Given the description of an element on the screen output the (x, y) to click on. 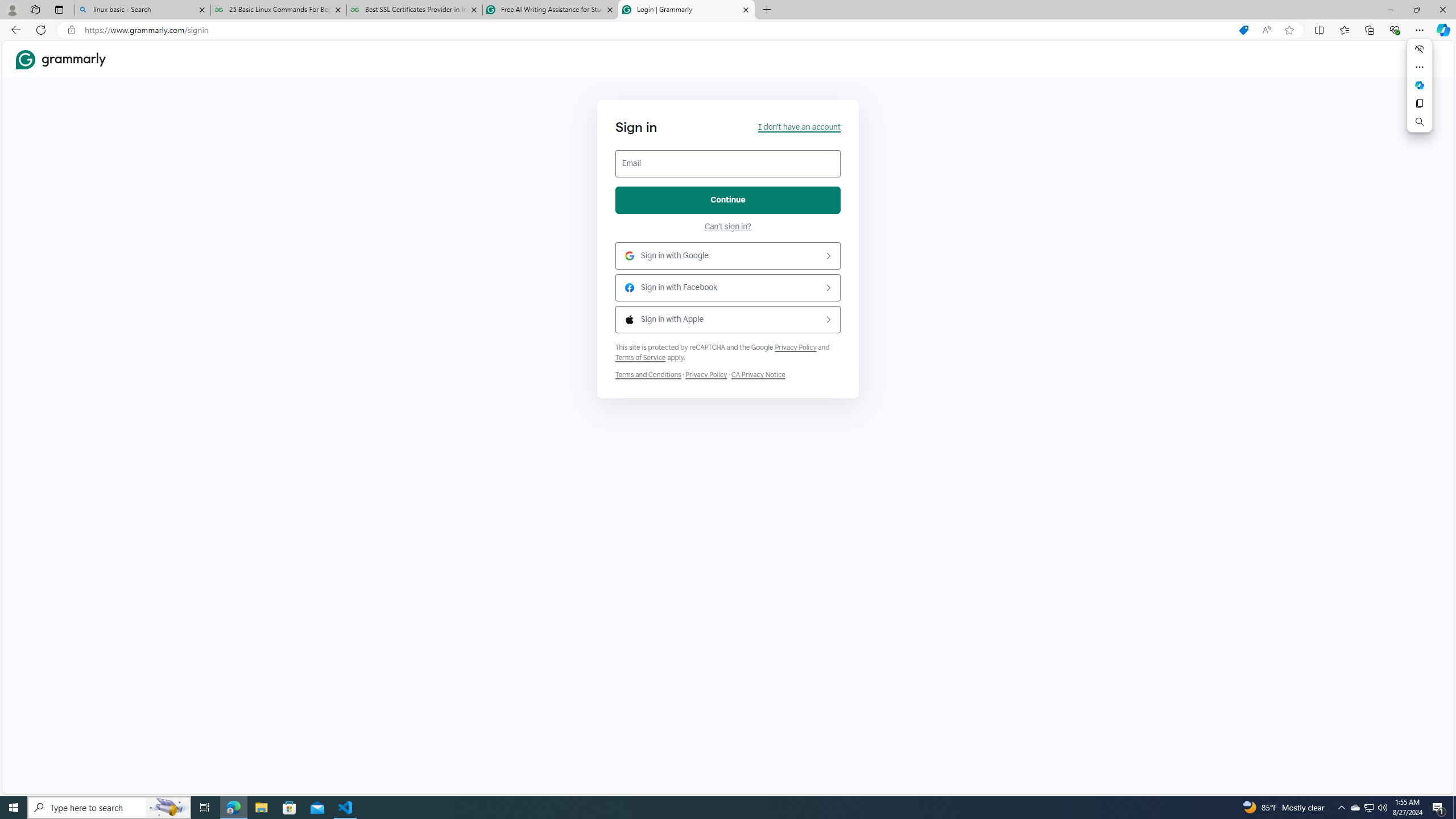
Hide menu (1419, 49)
Sign in with Apple (727, 319)
25 Basic Linux Commands For Beginners - GeeksforGeeks (277, 9)
